Given the description of an element on the screen output the (x, y) to click on. 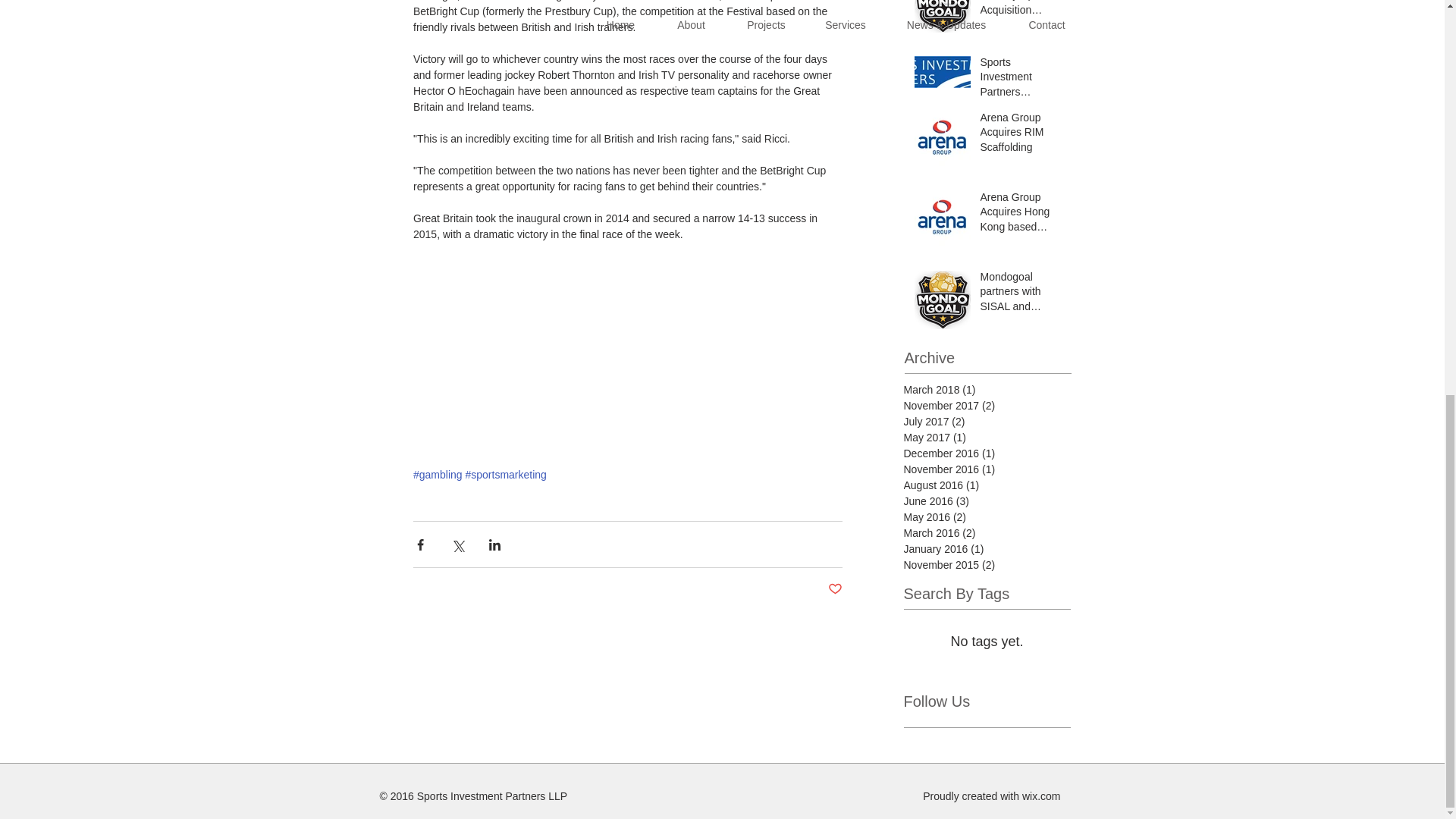
Arena Group Acquires RIM Scaffolding (1020, 135)
Post not marked as liked (835, 589)
Mondogoal partners with SISAL and Lottomatica (1020, 295)
Arena Group Acquires Hong Kong based Ironmonger Marquees - (1020, 215)
